Given the description of an element on the screen output the (x, y) to click on. 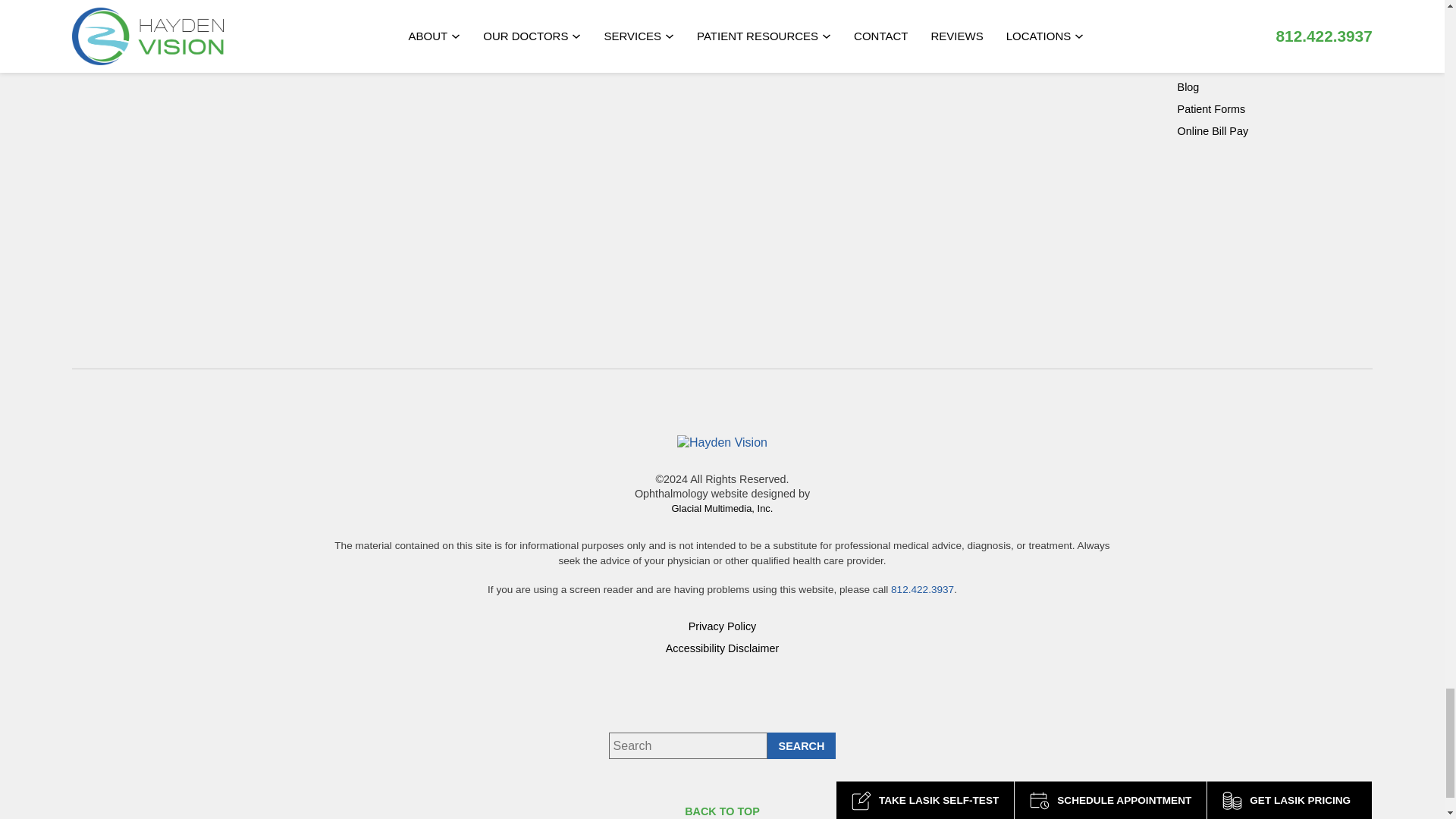
Search (801, 745)
Search (801, 745)
Call 812.422.3937 for assistance (922, 589)
Glacial Multimedia, Inc. (721, 508)
